Given the description of an element on the screen output the (x, y) to click on. 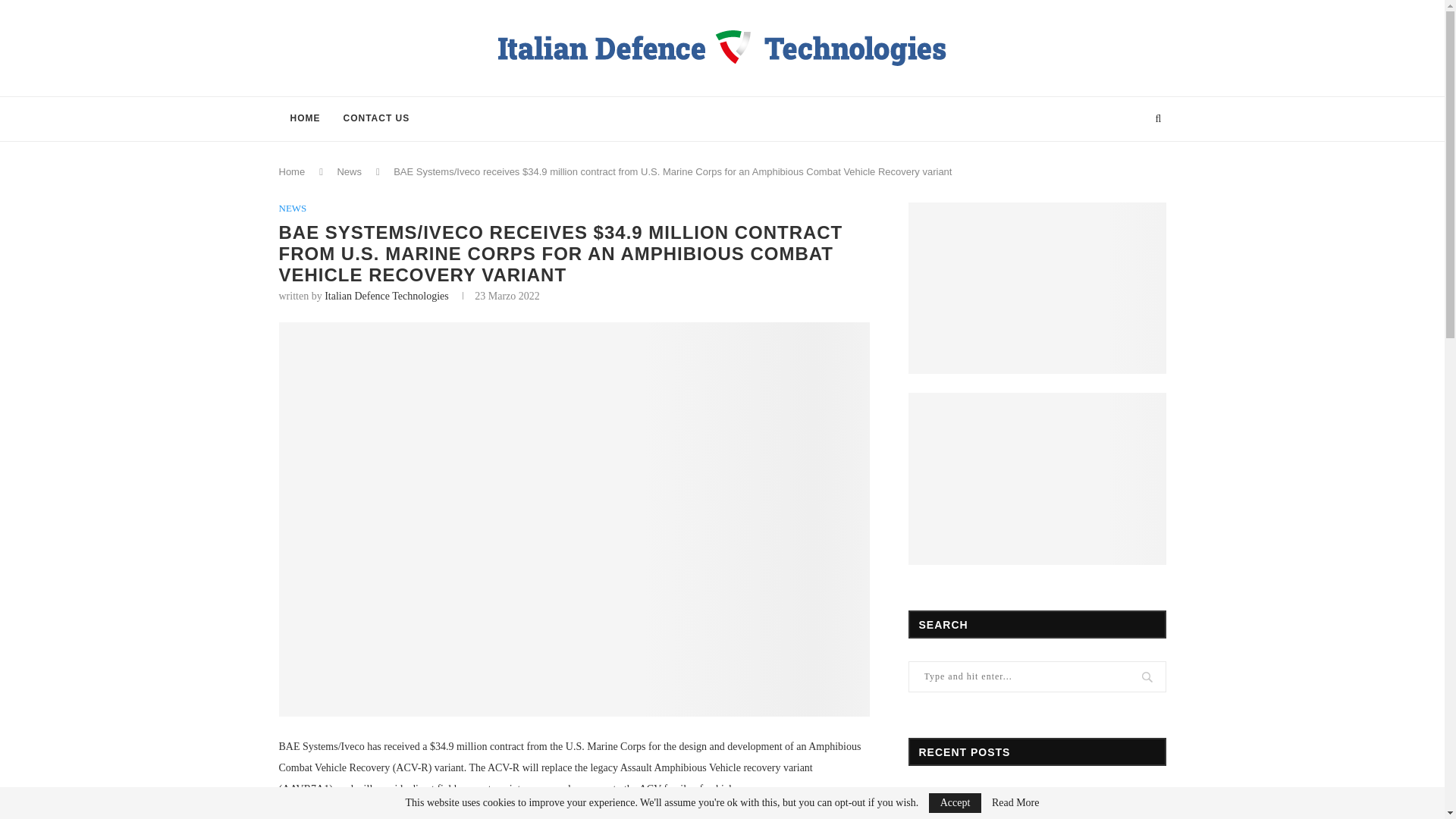
Home (292, 171)
News (348, 171)
NEWS (293, 208)
Italian Defence Technologies (386, 296)
HOME (305, 118)
CONTACT US (376, 118)
